Given the description of an element on the screen output the (x, y) to click on. 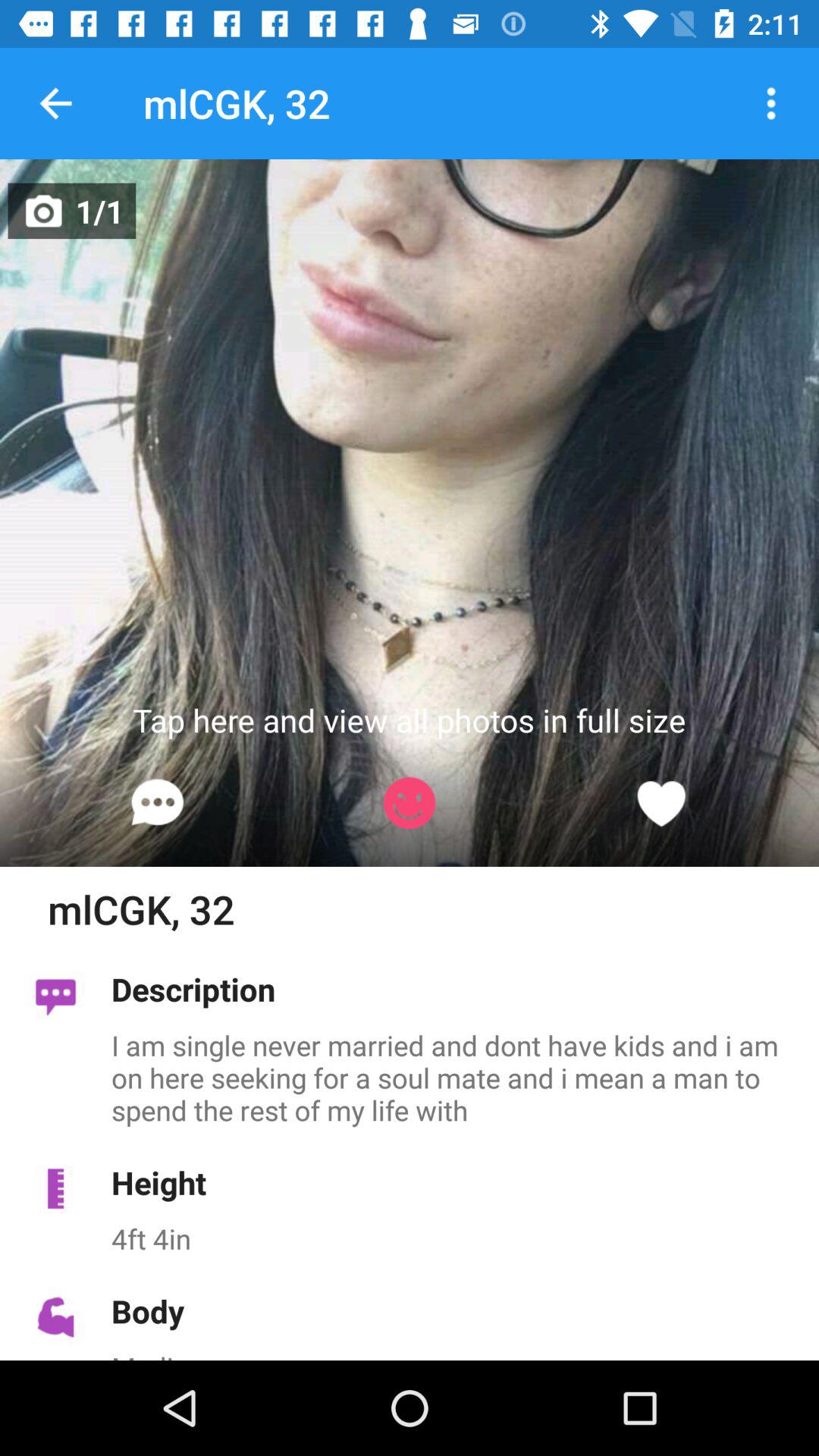
tap the item next to the mlcgk, 32 icon (771, 103)
